Given the description of an element on the screen output the (x, y) to click on. 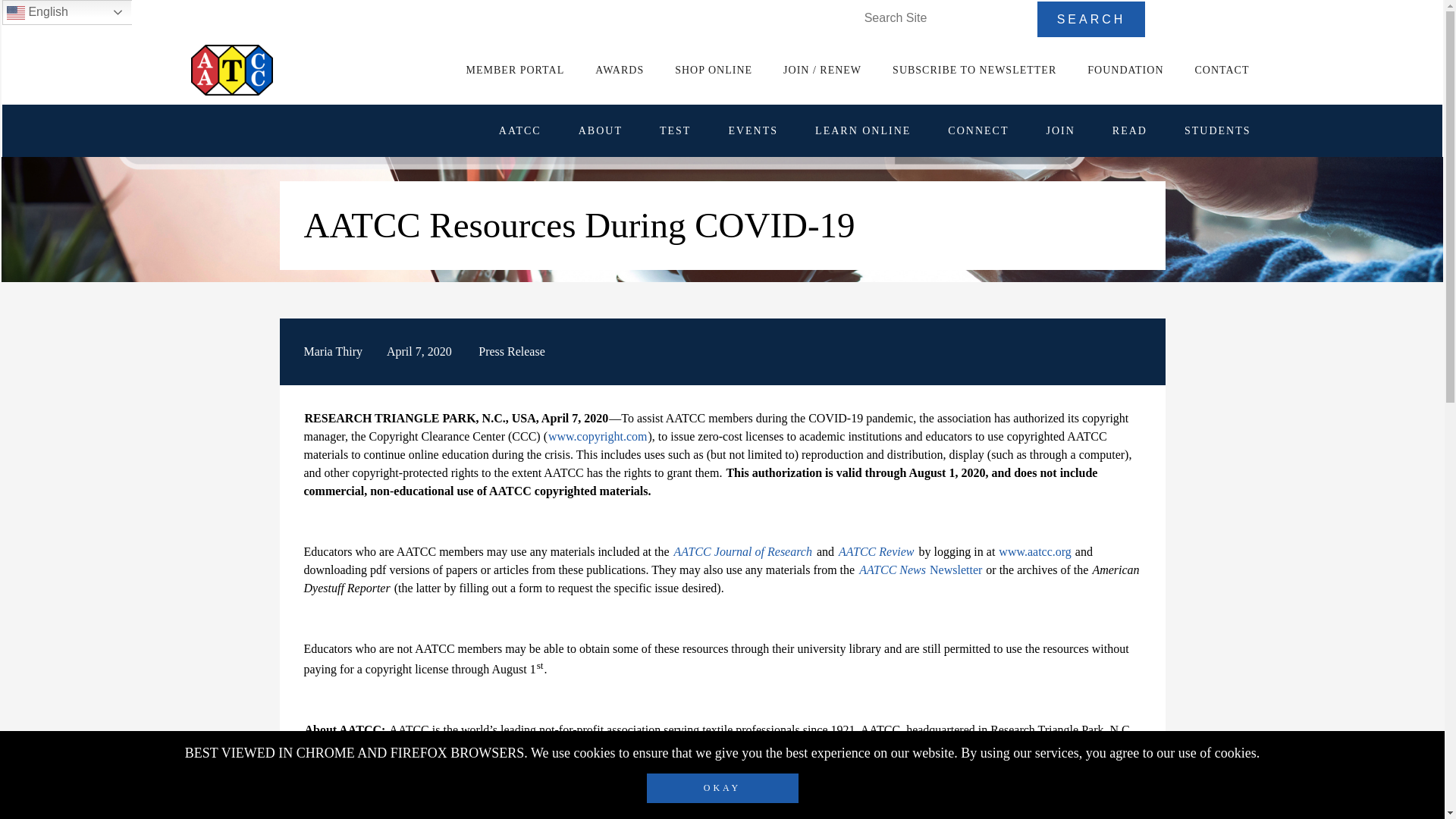
AATCC (520, 130)
SHOP ONLINE (713, 70)
CONTACT (1222, 70)
MEMBER PORTAL (515, 70)
CONNECT (977, 130)
EVENTS (752, 130)
JOIN (1059, 130)
AWARDS (619, 70)
SUBSCRIBE TO NEWSLETTER (974, 70)
STUDENTS (1216, 130)
